Given the description of an element on the screen output the (x, y) to click on. 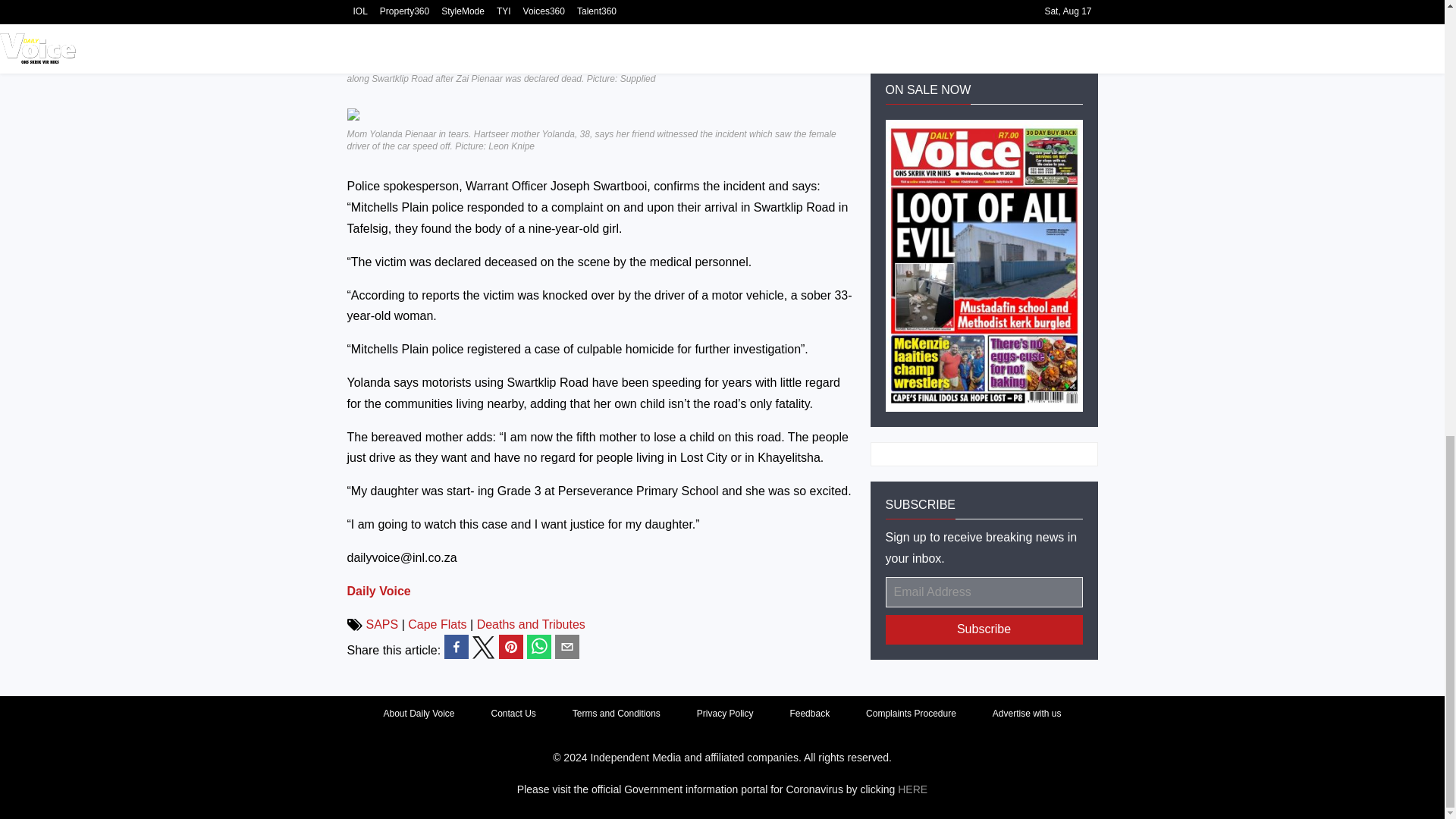
Contact Us (512, 714)
Daily Voice (378, 590)
About Daily Voice (418, 714)
Share on Twitter (483, 648)
Subscribe (984, 629)
View 7 day forecast (983, 22)
Deaths and Tributes (531, 624)
SAPS (381, 624)
Cape Flats (436, 624)
